Given the description of an element on the screen output the (x, y) to click on. 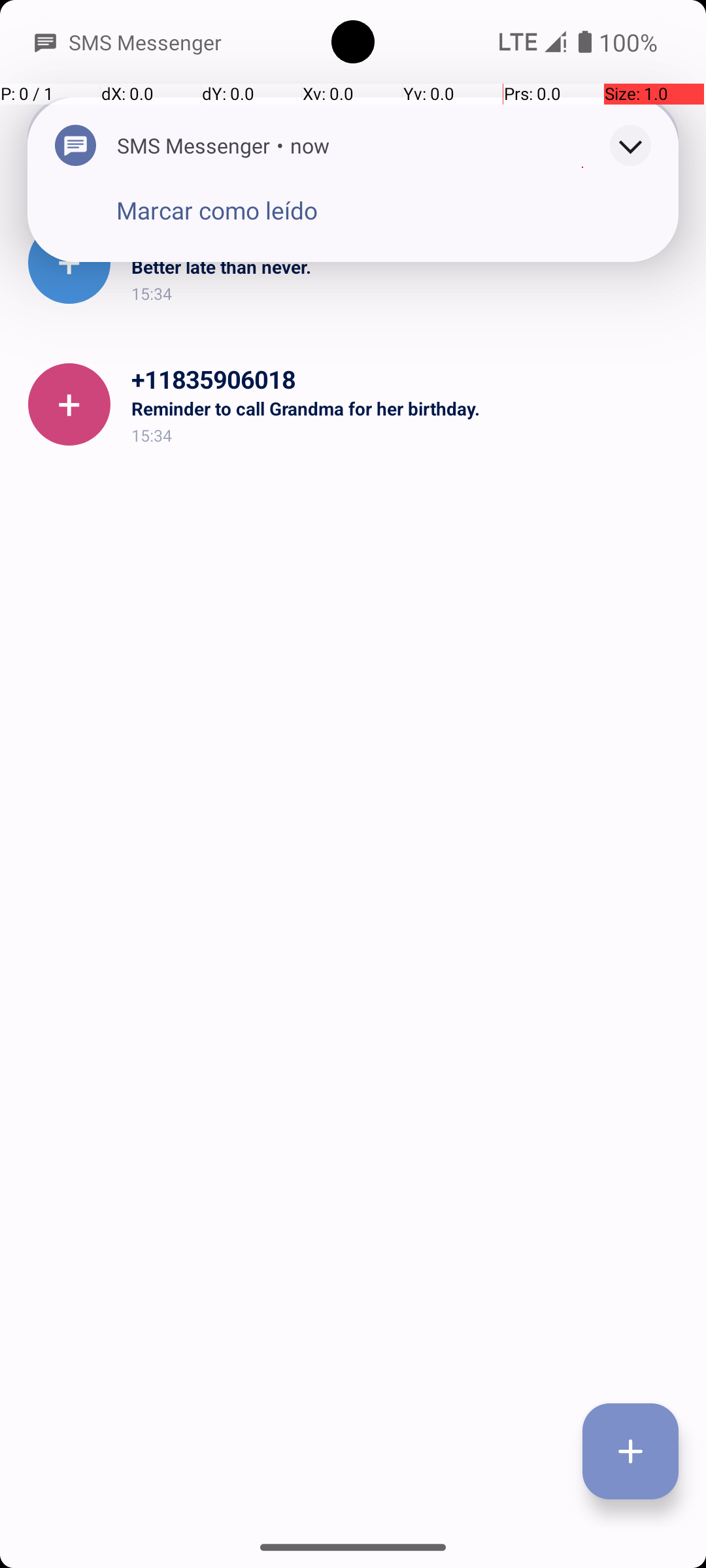
Acerca de Element type: android.widget.Button (560, 138)
+17510896336 Element type: android.widget.TextView (408, 237)
Better late than never. Element type: android.widget.TextView (408, 266)
+11835906018 Element type: android.widget.TextView (408, 378)
Reminder to call Grandma for her birthday. Element type: android.widget.TextView (408, 407)
Marcar como leído Element type: android.widget.Button (216, 210)
• Element type: android.widget.TextView (279, 145)
now Element type: android.widget.TextView (309, 145)
Alerted Element type: android.widget.ImageView (349, 146)
